Given the description of an element on the screen output the (x, y) to click on. 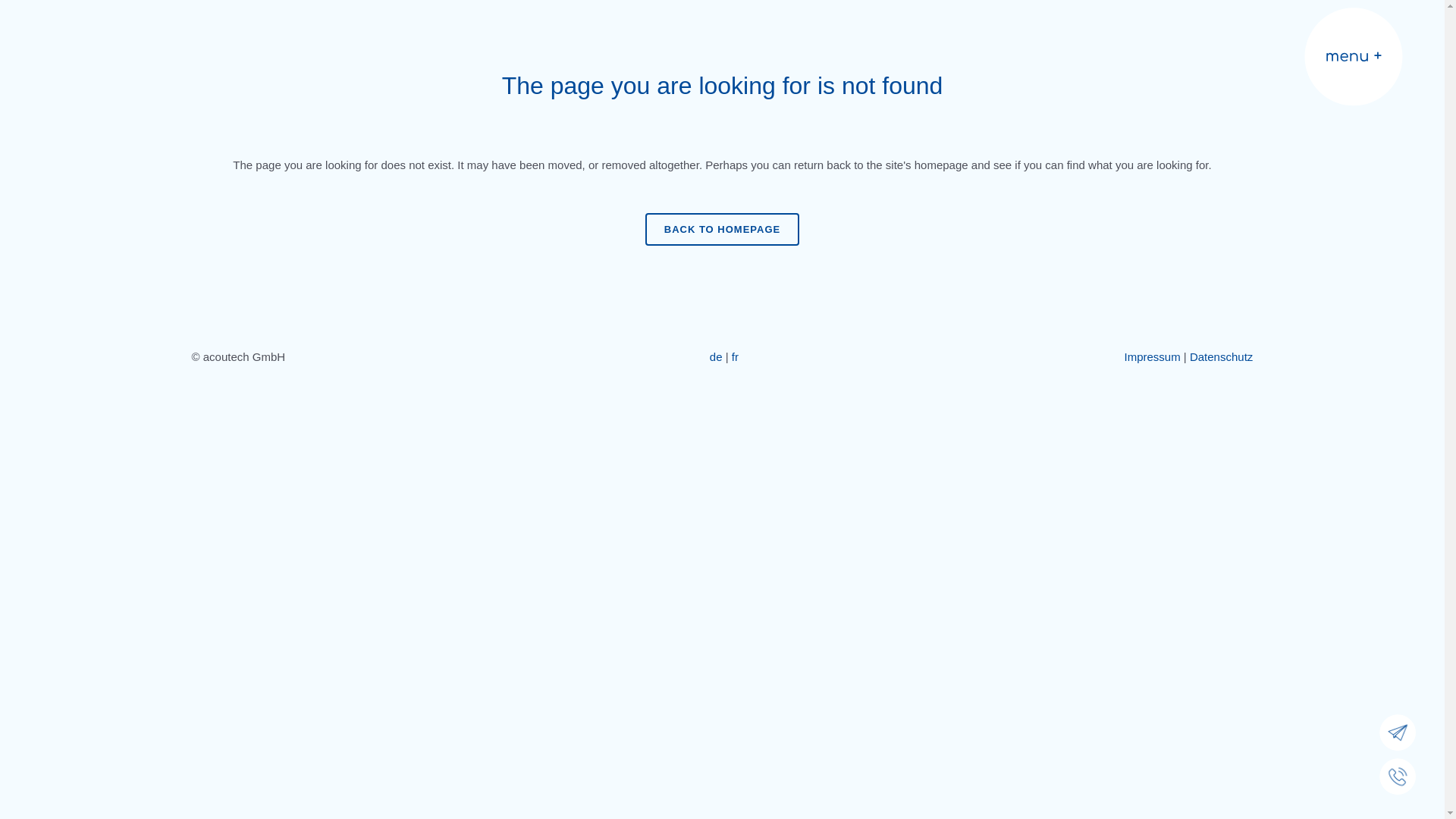
de Element type: text (715, 356)
fr Element type: text (734, 356)
Datenschutz Element type: text (1220, 356)
BACK TO HOMEPAGE Element type: text (722, 229)
Impressum Element type: text (1152, 356)
